Given the description of an element on the screen output the (x, y) to click on. 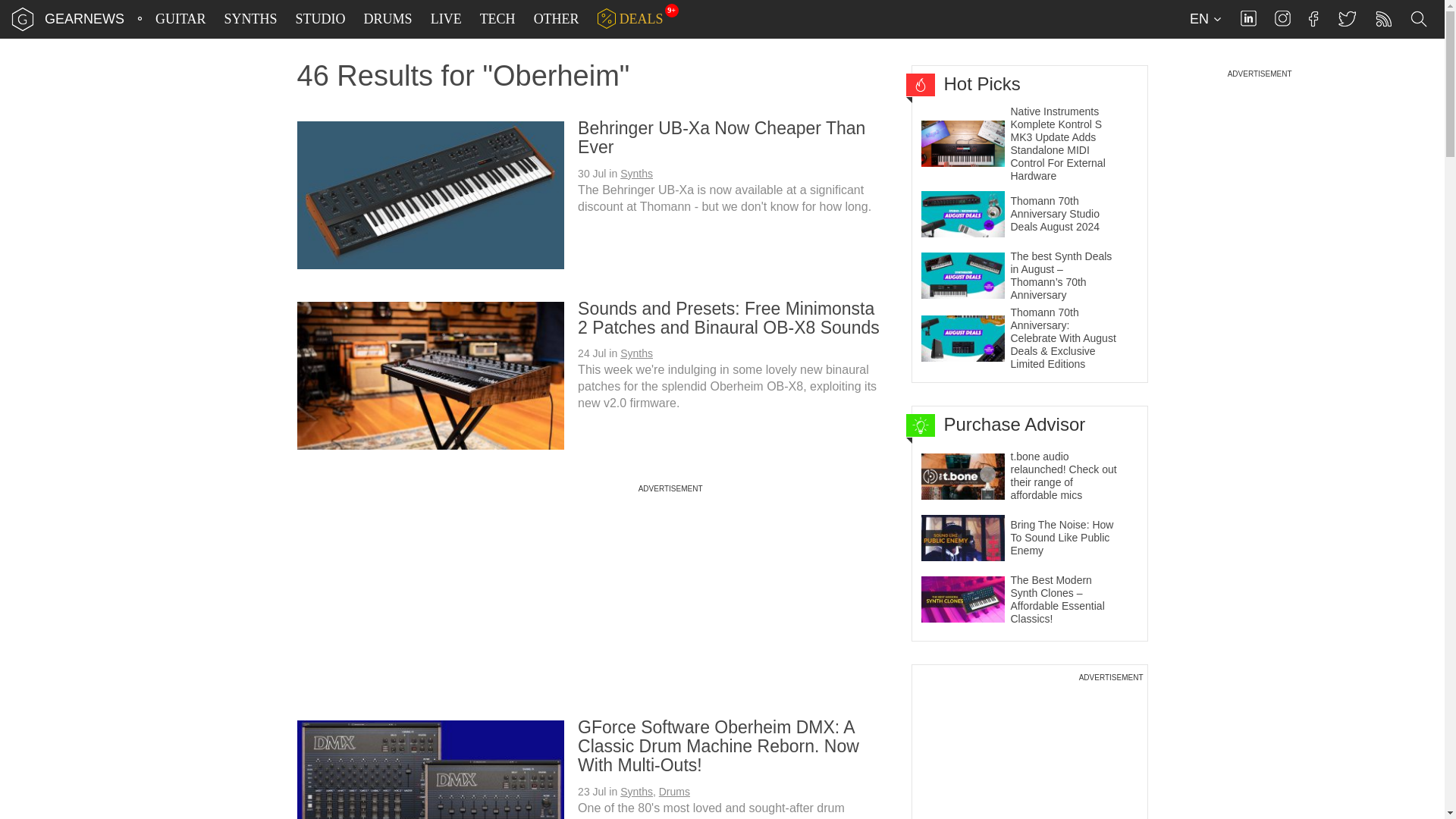
DEALS (630, 19)
Instagram (1282, 18)
GEARNEWS (84, 18)
DRUMS (387, 19)
LinkedIn (1248, 18)
TECH (497, 19)
LIVE (445, 19)
OTHER (556, 19)
GUITAR (181, 19)
SYNTHS (250, 19)
STUDIO (320, 19)
